Given the description of an element on the screen output the (x, y) to click on. 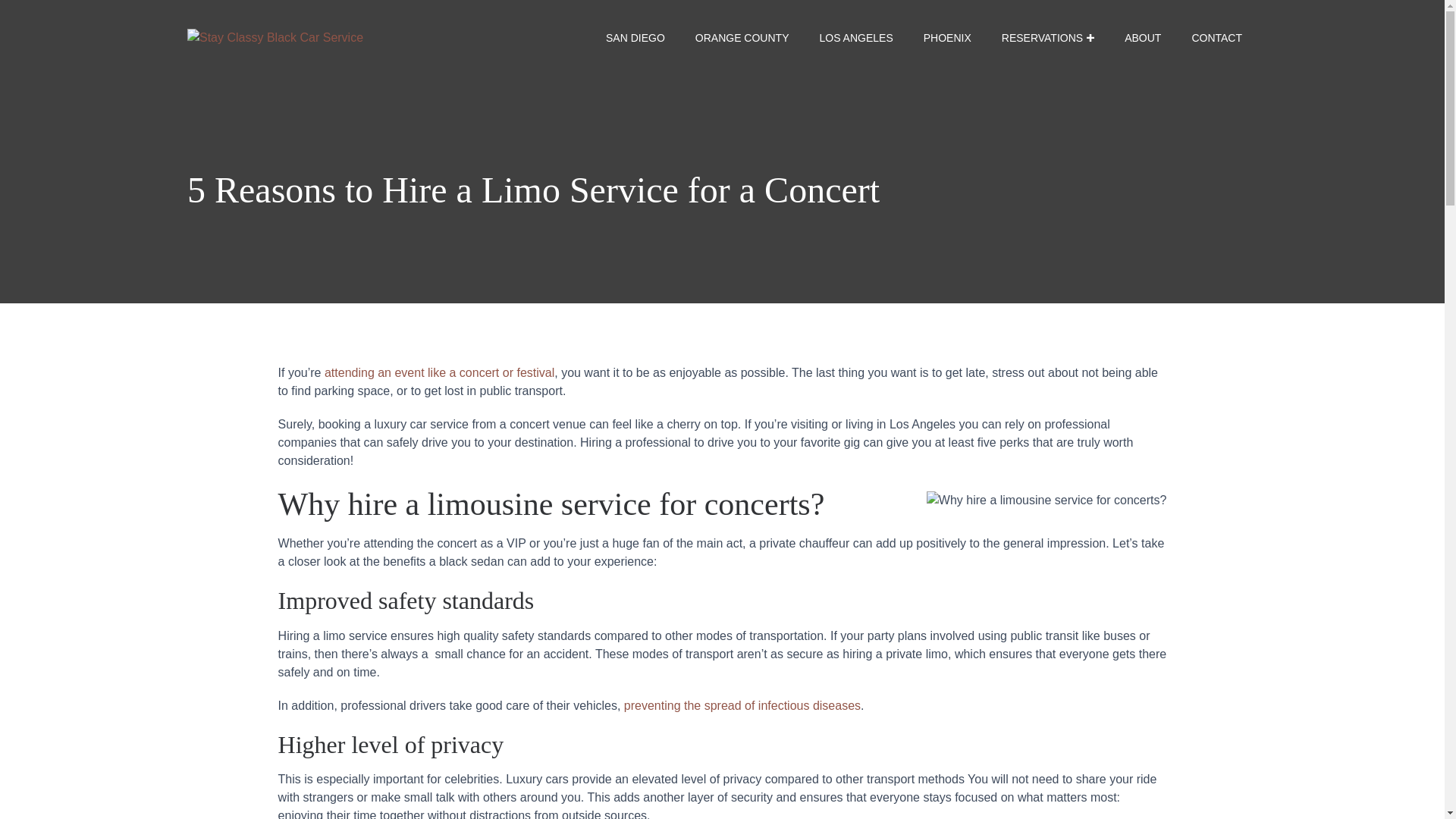
LOS ANGELES (855, 38)
RESERVATIONS (1048, 38)
preventing the spread of infectious diseases (742, 705)
CONTACT (1216, 38)
SAN DIEGO (635, 38)
PHOENIX (947, 38)
attending an event like a concert or festival (439, 372)
Stay Classy Black Car Service (274, 37)
ORANGE COUNTY (742, 38)
